Given the description of an element on the screen output the (x, y) to click on. 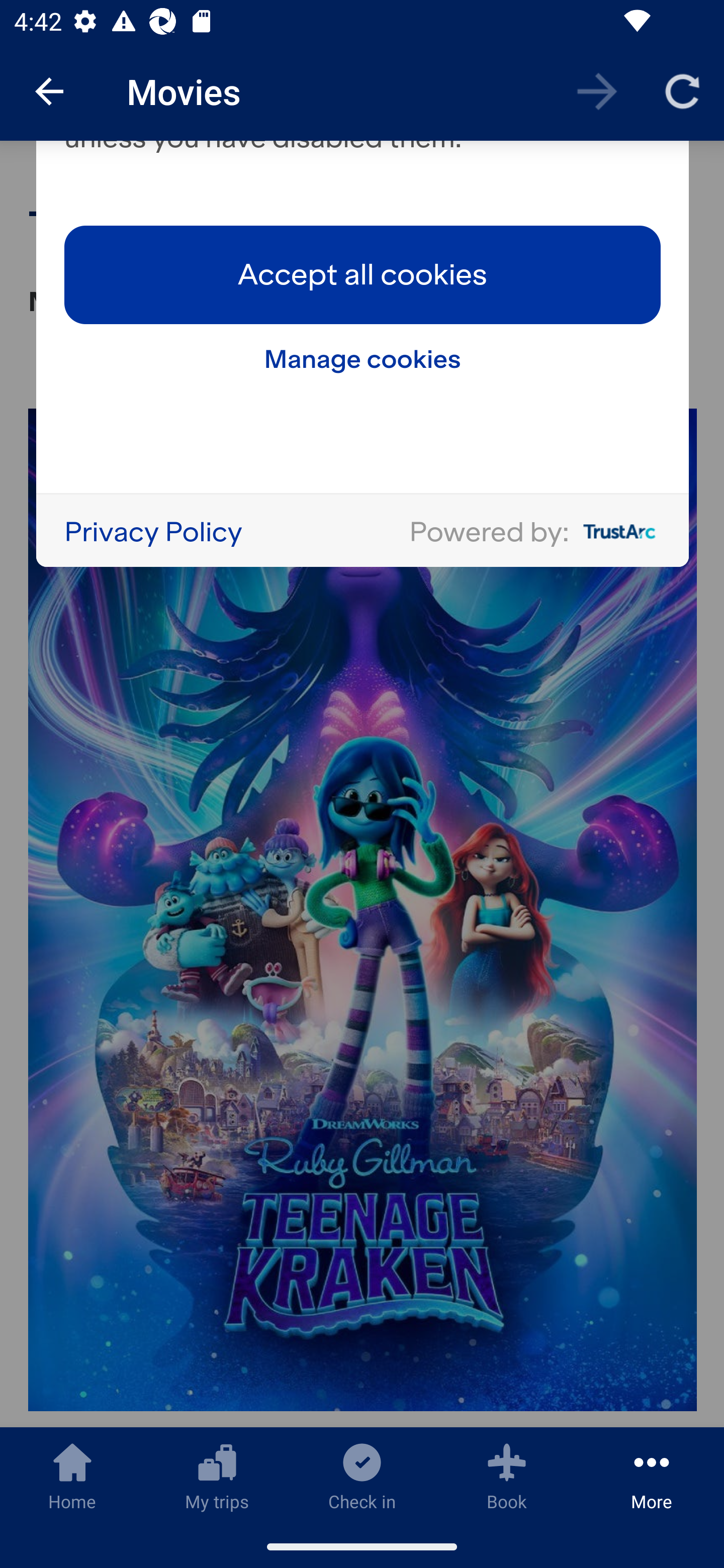
Navigate up (49, 91)
Forward (597, 90)
Reload (681, 90)
Accept all cookies (362, 276)
Manage cookies (362, 360)
Privacy Policy (152, 532)
Company logo for TrustArc (614, 532)
Home (72, 1475)
My trips (216, 1475)
Check in (361, 1475)
Book (506, 1475)
